Given the description of an element on the screen output the (x, y) to click on. 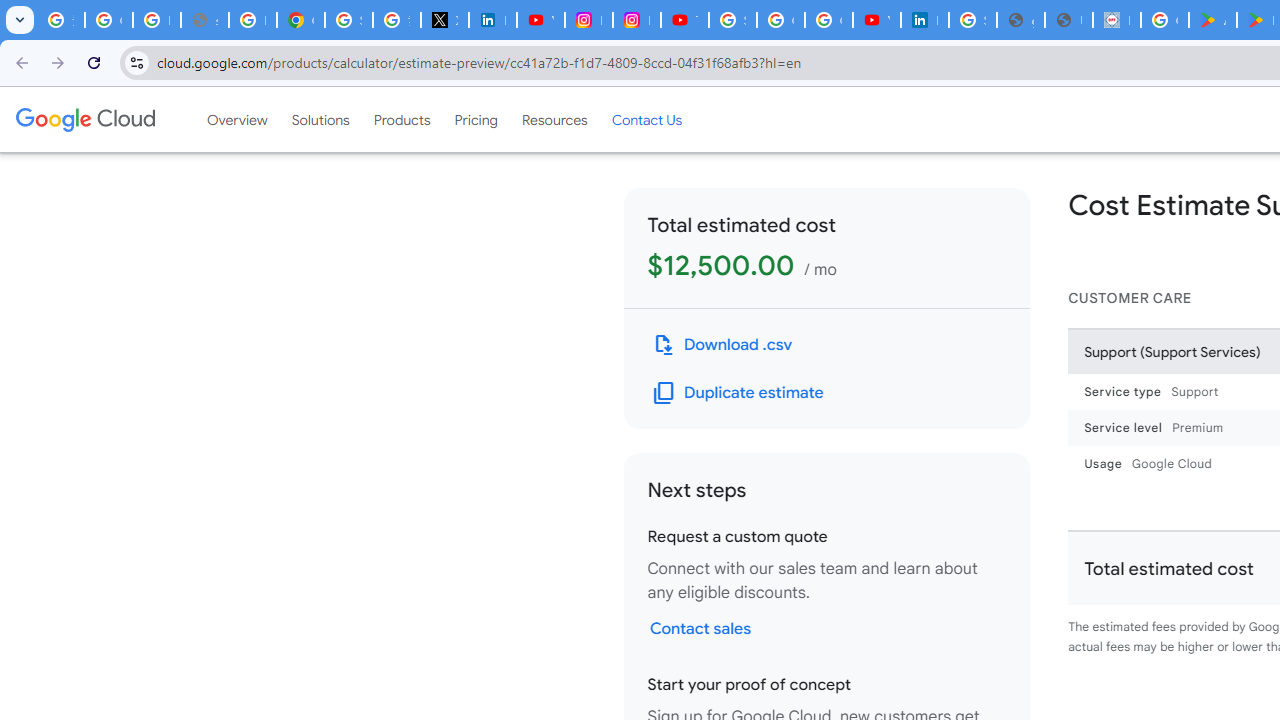
Identity verification via Persona | LinkedIn Help (924, 20)
Pricing (476, 119)
Google Cloud (84, 119)
Contact sales (699, 628)
Resources (553, 119)
Overview (236, 119)
Solutions (320, 119)
LinkedIn Privacy Policy (492, 20)
Sign in - Google Accounts (732, 20)
